Given the description of an element on the screen output the (x, y) to click on. 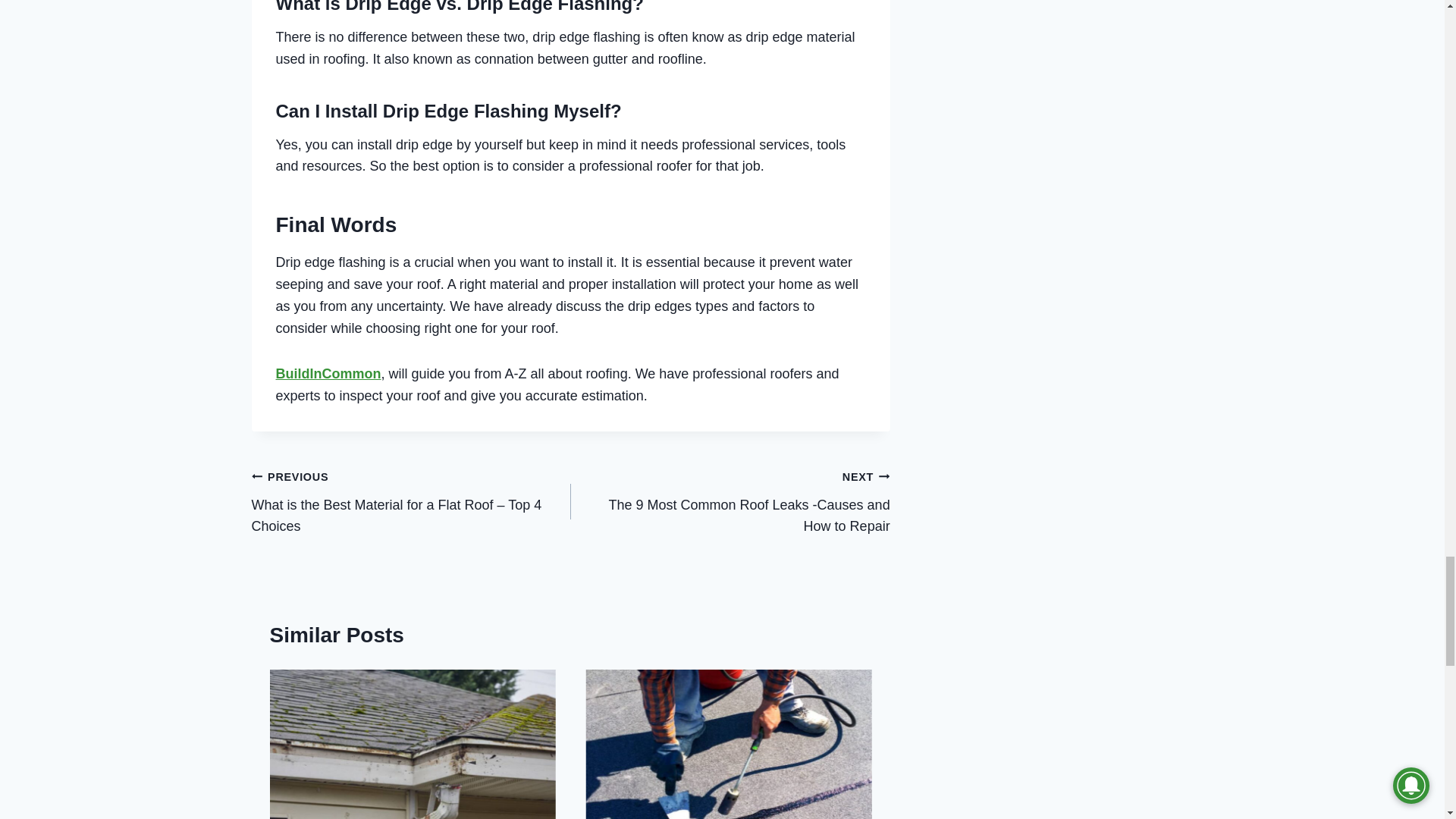
BuildInCommon (328, 373)
